Given the description of an element on the screen output the (x, y) to click on. 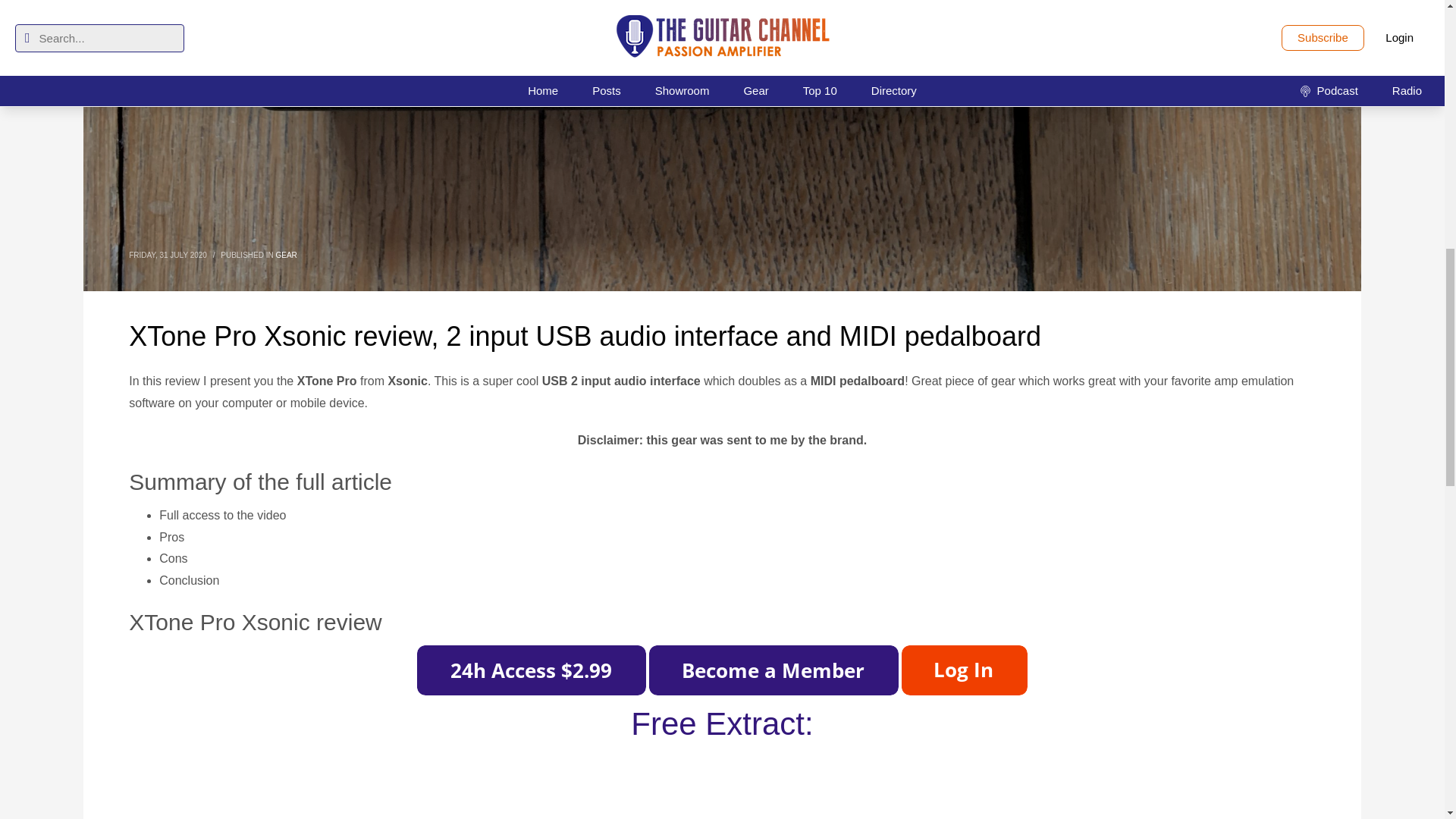
Already a member? Log in to access the full video! (964, 670)
GEAR (286, 254)
Full access for 24h to all the videos (531, 670)
Become a member to access the full catalog of videos (773, 670)
